Given the description of an element on the screen output the (x, y) to click on. 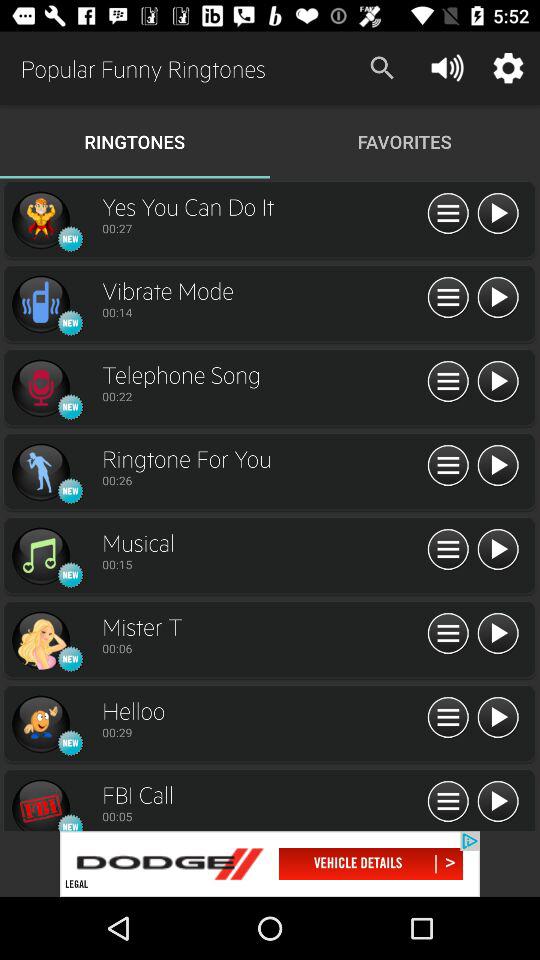
go to next (270, 864)
